Given the description of an element on the screen output the (x, y) to click on. 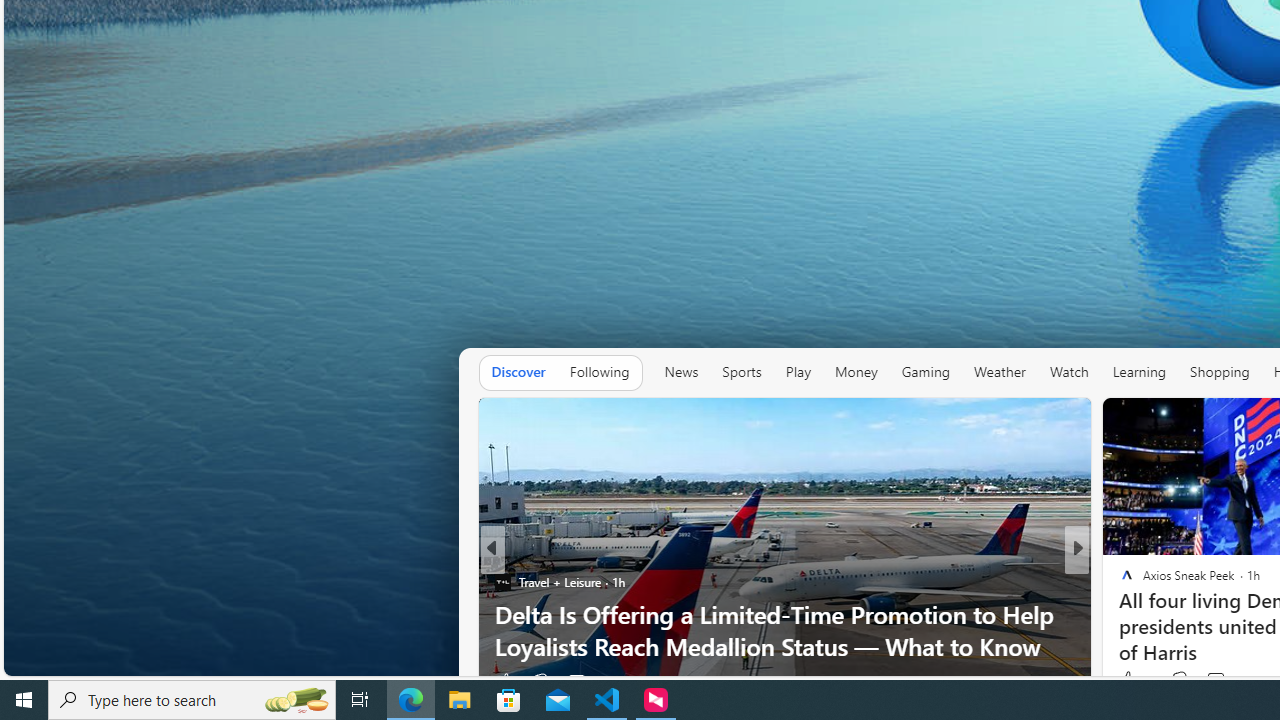
Play (798, 372)
View comments 25 Comment (1217, 681)
Sports (741, 371)
Play (797, 371)
Like (504, 681)
IGN (1117, 581)
Hide this story (1030, 421)
View comments 4 Comment (1209, 681)
Gaming (925, 372)
View comments 13 Comment (1209, 681)
View comments 2 Comment (1214, 681)
